Given the description of an element on the screen output the (x, y) to click on. 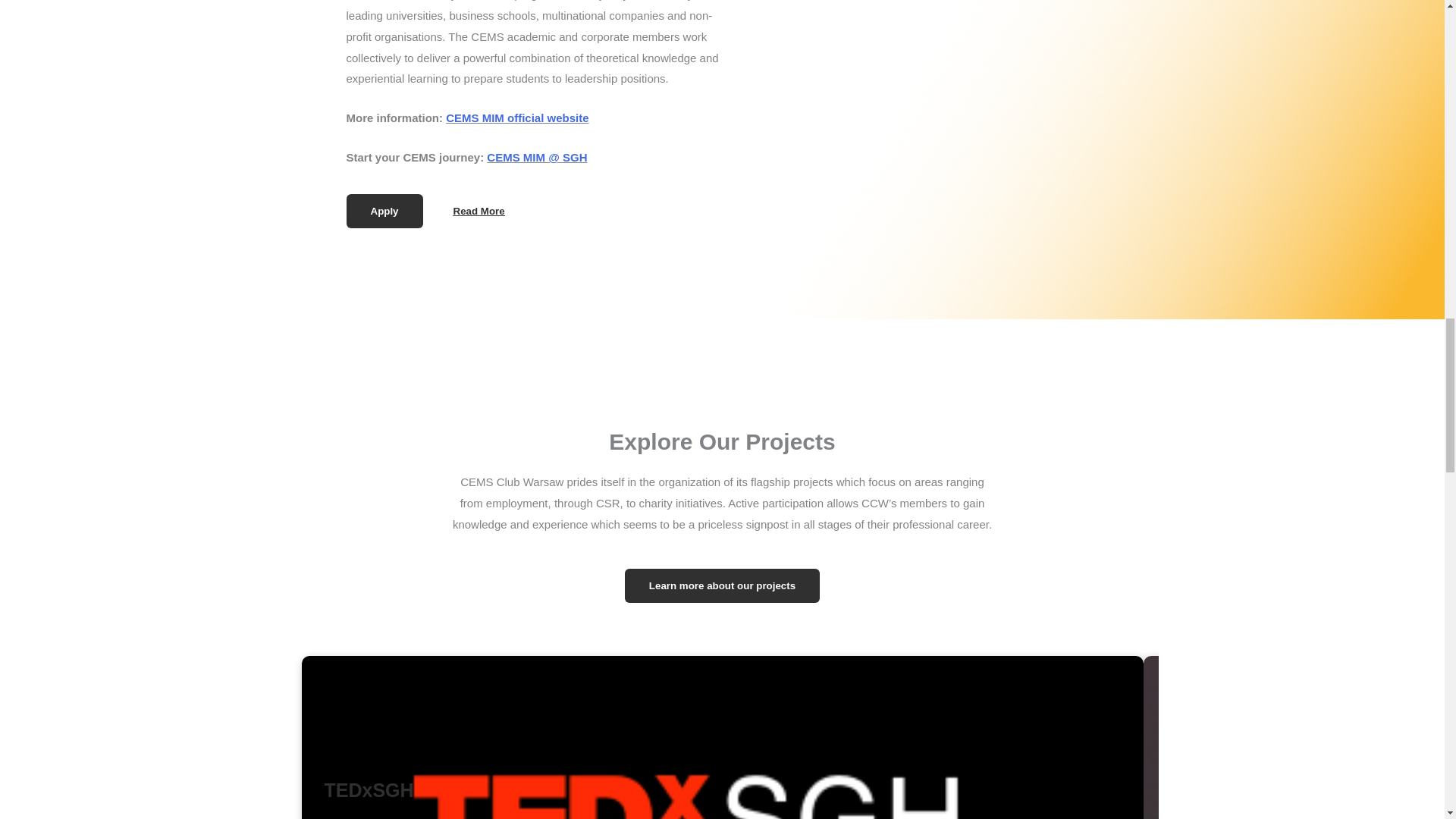
CEMS MIM official website (516, 117)
Read More (478, 211)
Apply (384, 211)
Learn more about our projects (721, 585)
